Given the description of an element on the screen output the (x, y) to click on. 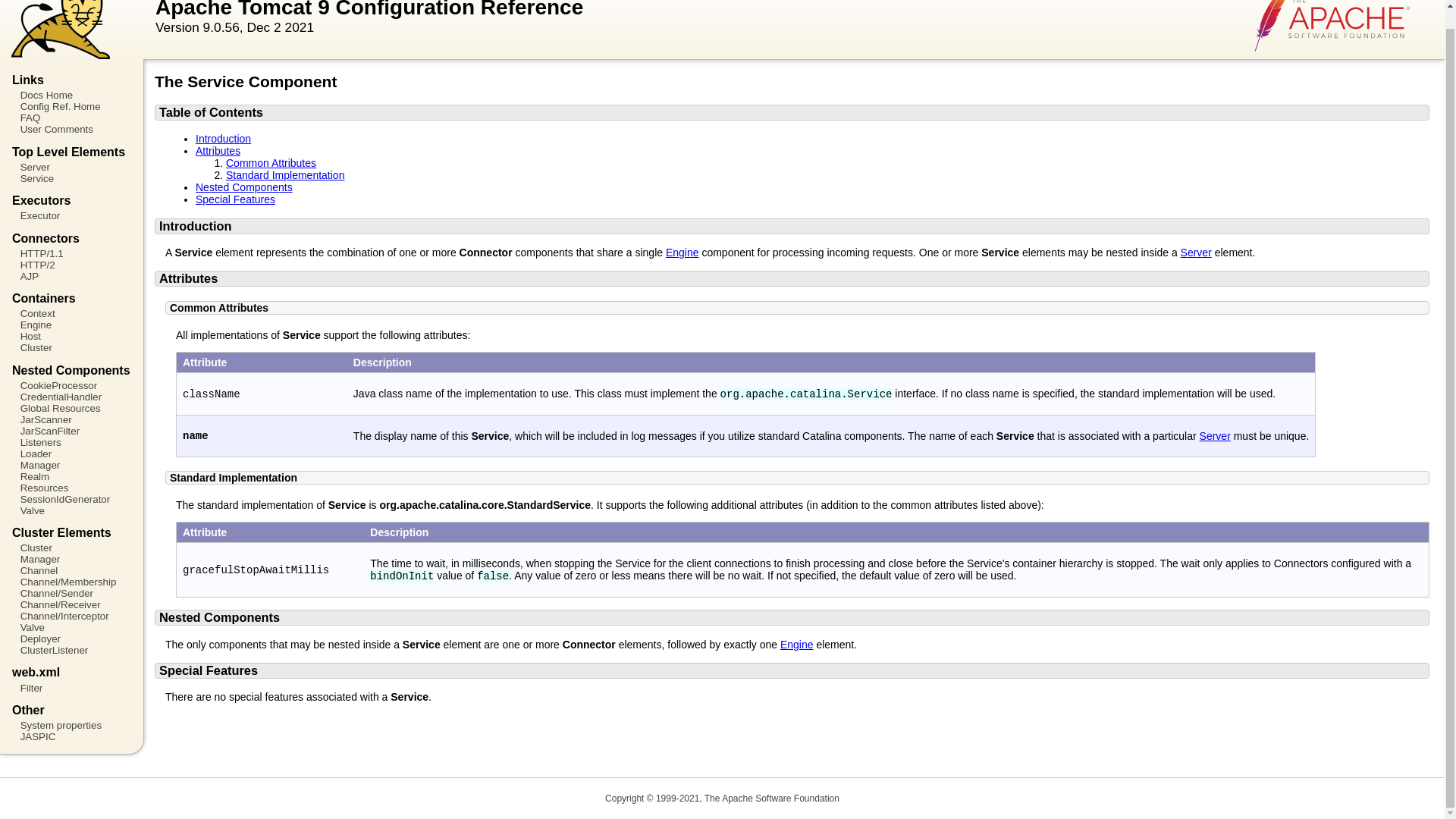
Global Resources (71, 408)
System properties (71, 725)
User Comments (71, 129)
Channel (71, 570)
Filter (71, 687)
JarScanner (71, 419)
ClusterListener (71, 650)
Cluster (71, 347)
Valve (71, 510)
Realm (71, 476)
Engine (71, 324)
Cluster (71, 547)
CookieProcessor (71, 385)
JarScanFilter (71, 430)
Docs Home (71, 94)
